Given the description of an element on the screen output the (x, y) to click on. 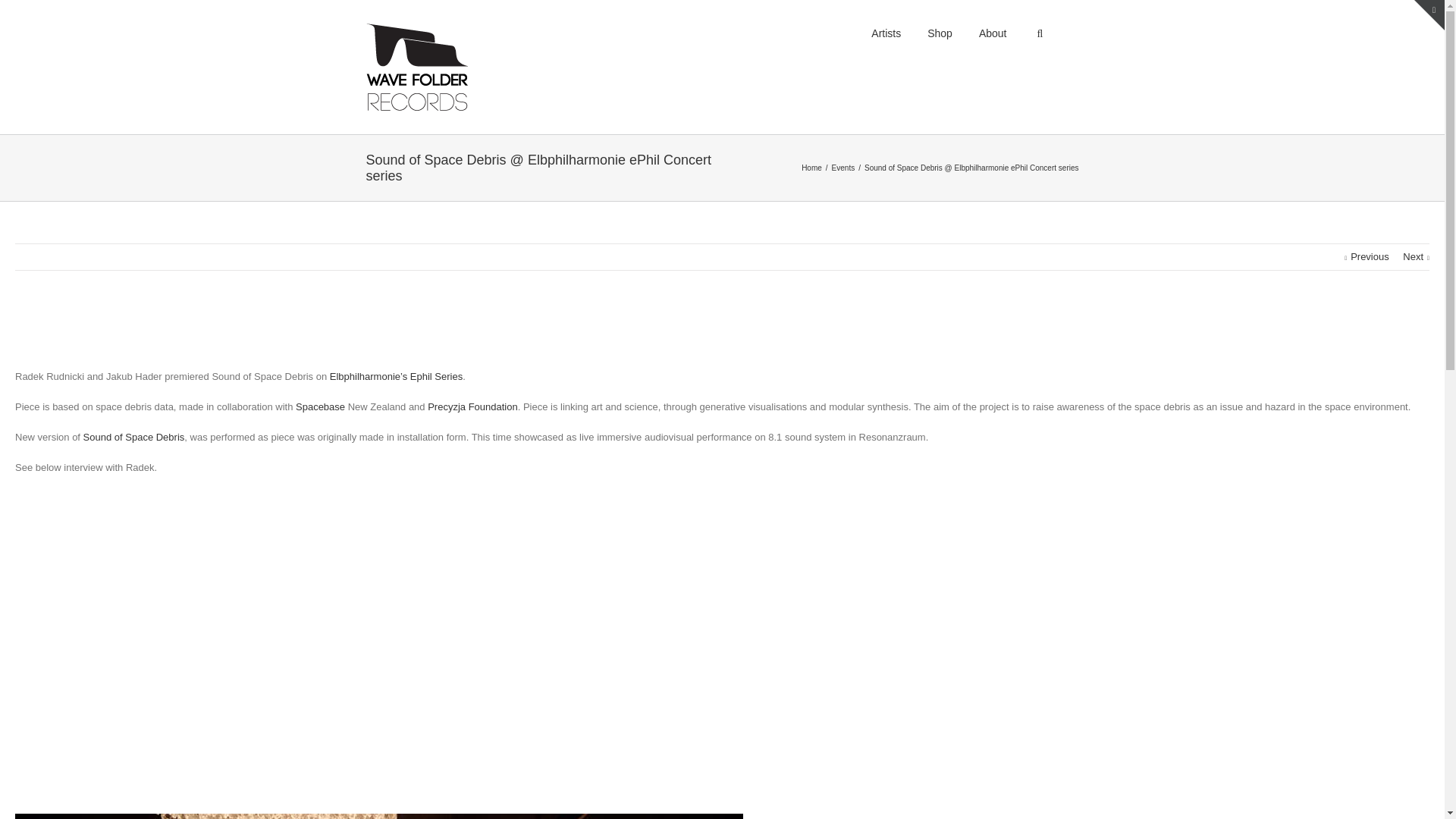
Sound of Space Debris (133, 437)
Precyzja Foundation (473, 406)
Spacebase (320, 406)
Previous (1366, 256)
Events (845, 167)
Next (1416, 256)
Home (813, 167)
